Given the description of an element on the screen output the (x, y) to click on. 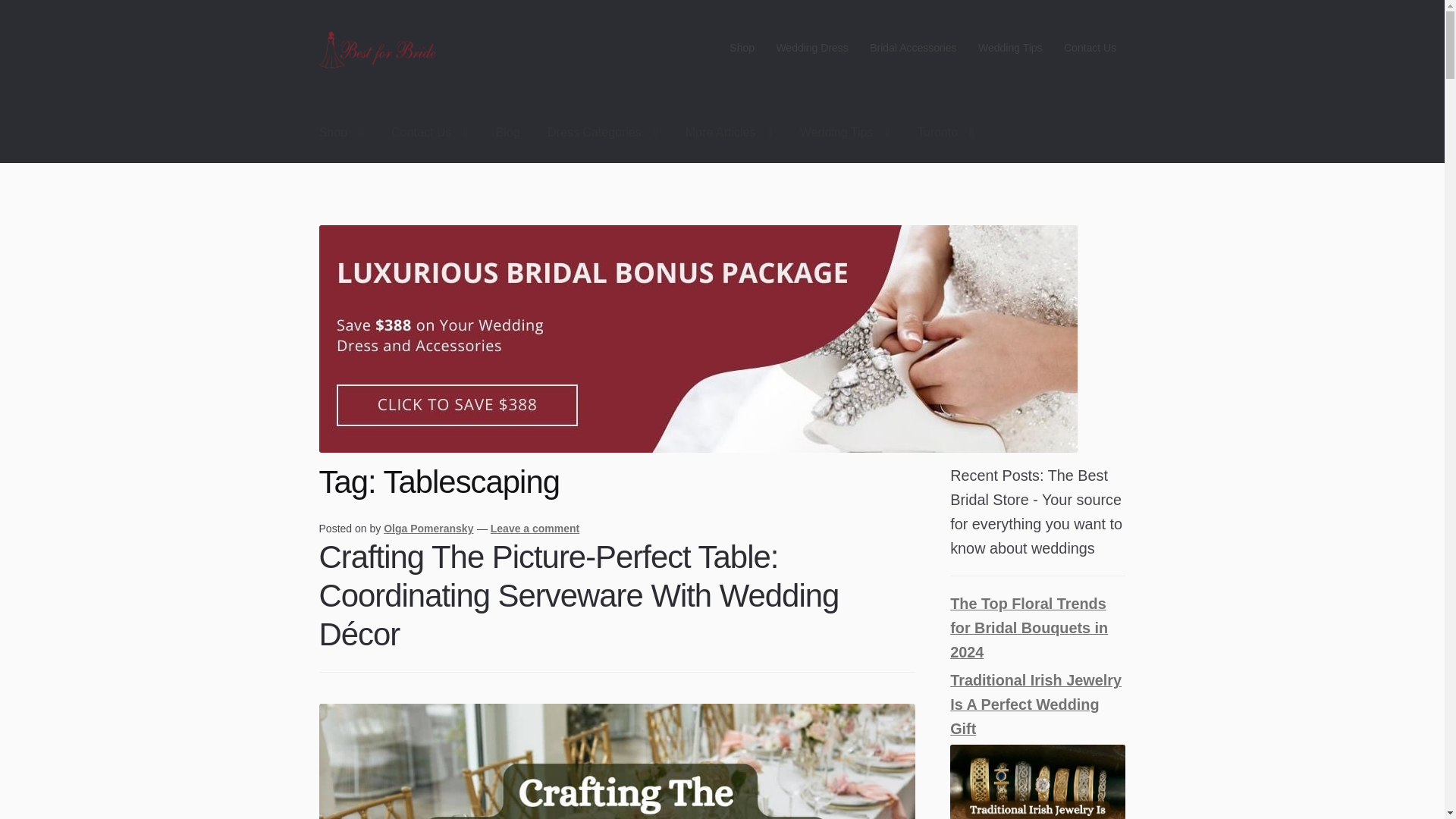
Traditional Irish Jewelry Is A Perfect Wedding Gift (1037, 781)
Wedding Tips (1010, 47)
Shop (341, 133)
Contact Us (1089, 47)
Dress Categories (602, 133)
Bridal Accessories (913, 47)
More Articles (728, 133)
Shop (741, 47)
Wedding Dress (812, 47)
